Given the description of an element on the screen output the (x, y) to click on. 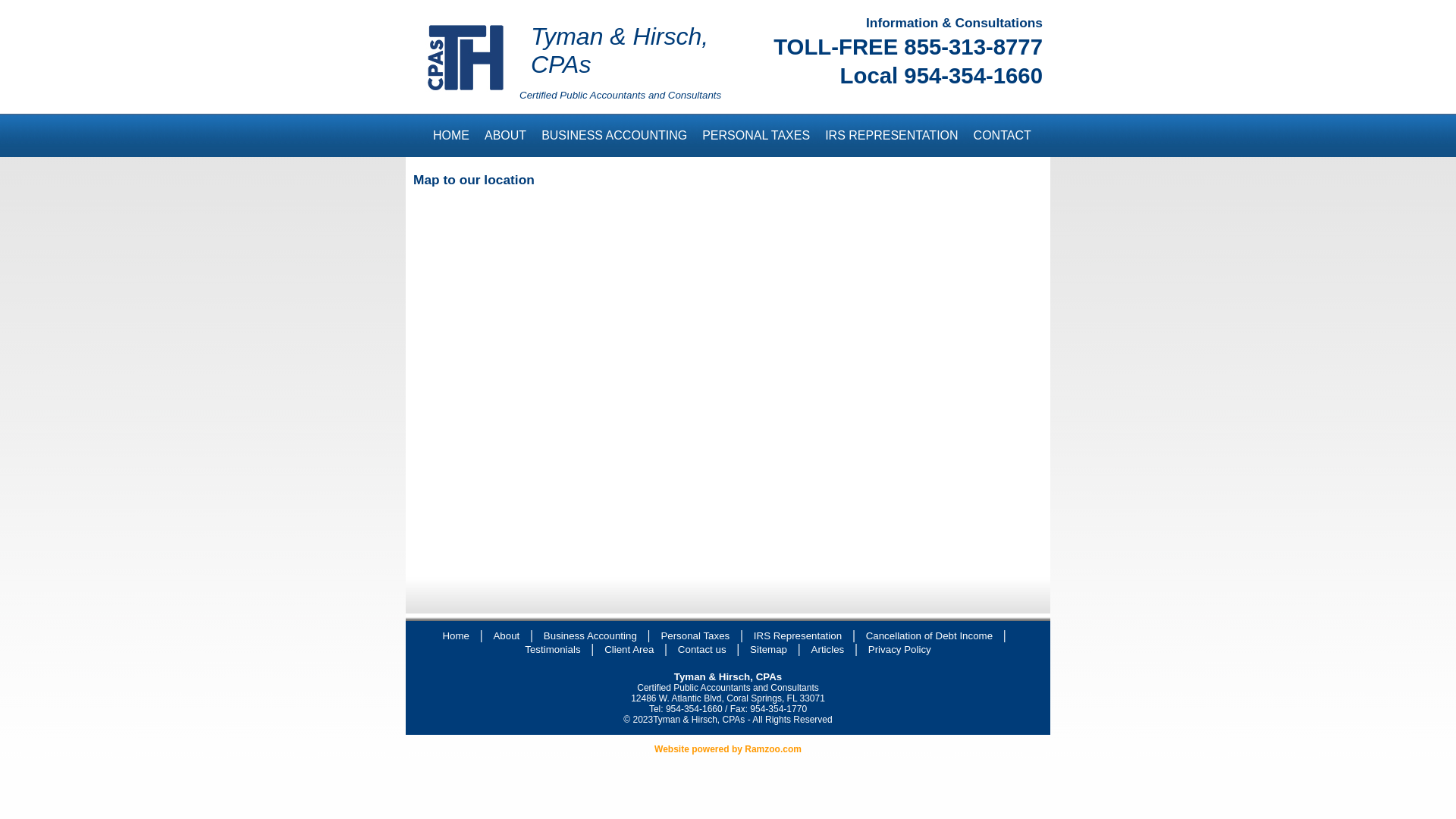
BUSINESS ACCOUNTING Element type: text (613, 134)
HOME Element type: text (450, 134)
Privacy Policy Element type: text (899, 649)
Sitemap Element type: text (768, 649)
Contact us Element type: text (701, 649)
CONTACT Element type: text (1002, 134)
Articles Element type: text (827, 649)
Testimonials Element type: text (552, 649)
IRS Representation Element type: text (797, 635)
IRS REPRESENTATION Element type: text (891, 134)
Client Area Element type: text (628, 649)
ABOUT Element type: text (504, 134)
Home Element type: text (455, 635)
Ramzoo.com Element type: text (772, 748)
About Element type: text (505, 635)
Business Accounting Element type: text (590, 635)
Personal Taxes Element type: text (694, 635)
Cancellation of Debt Income Element type: text (929, 635)
PERSONAL TAXES Element type: text (755, 134)
